Given the description of an element on the screen output the (x, y) to click on. 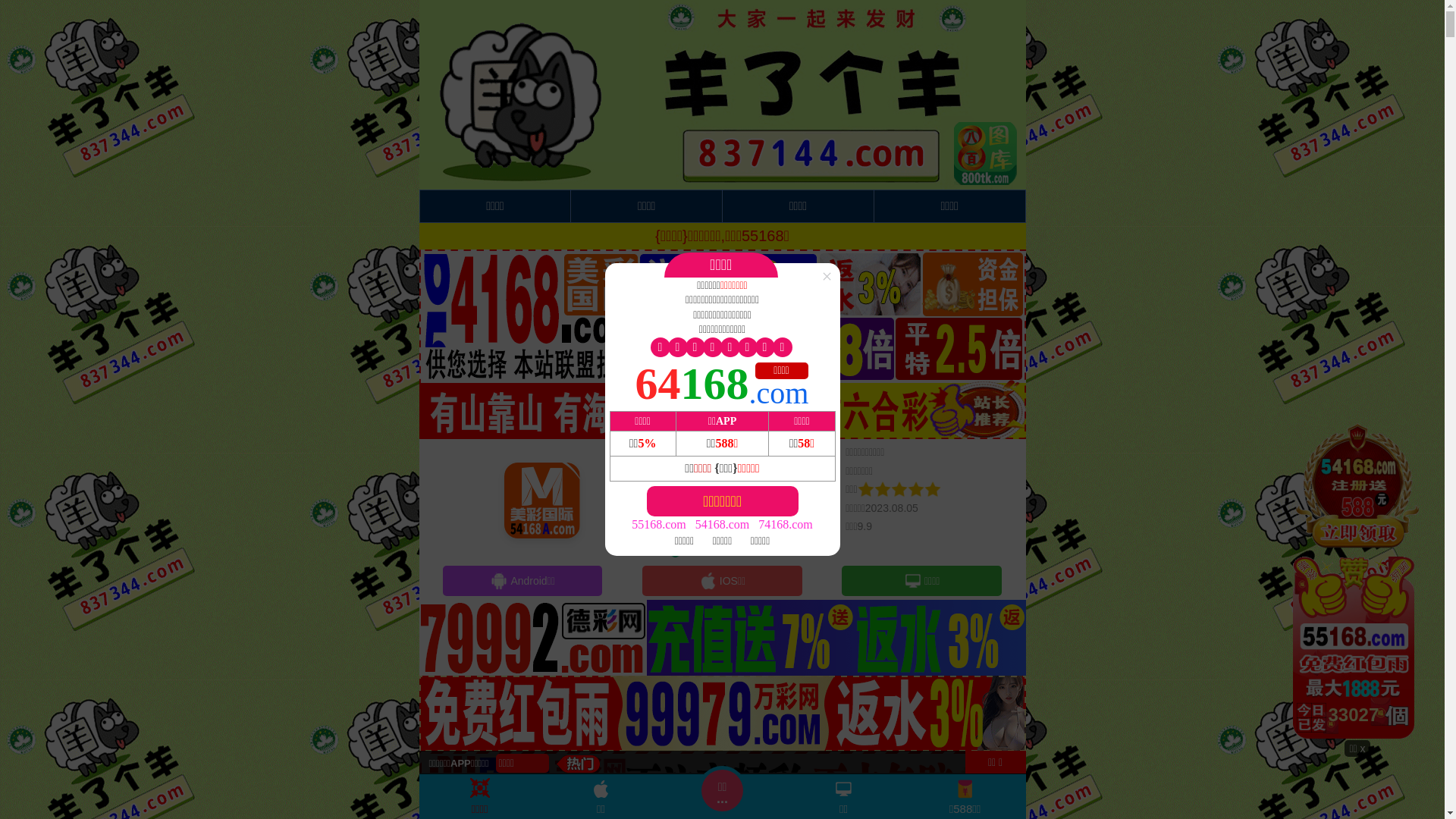
33297 Element type: text (1356, 579)
